Given the description of an element on the screen output the (x, y) to click on. 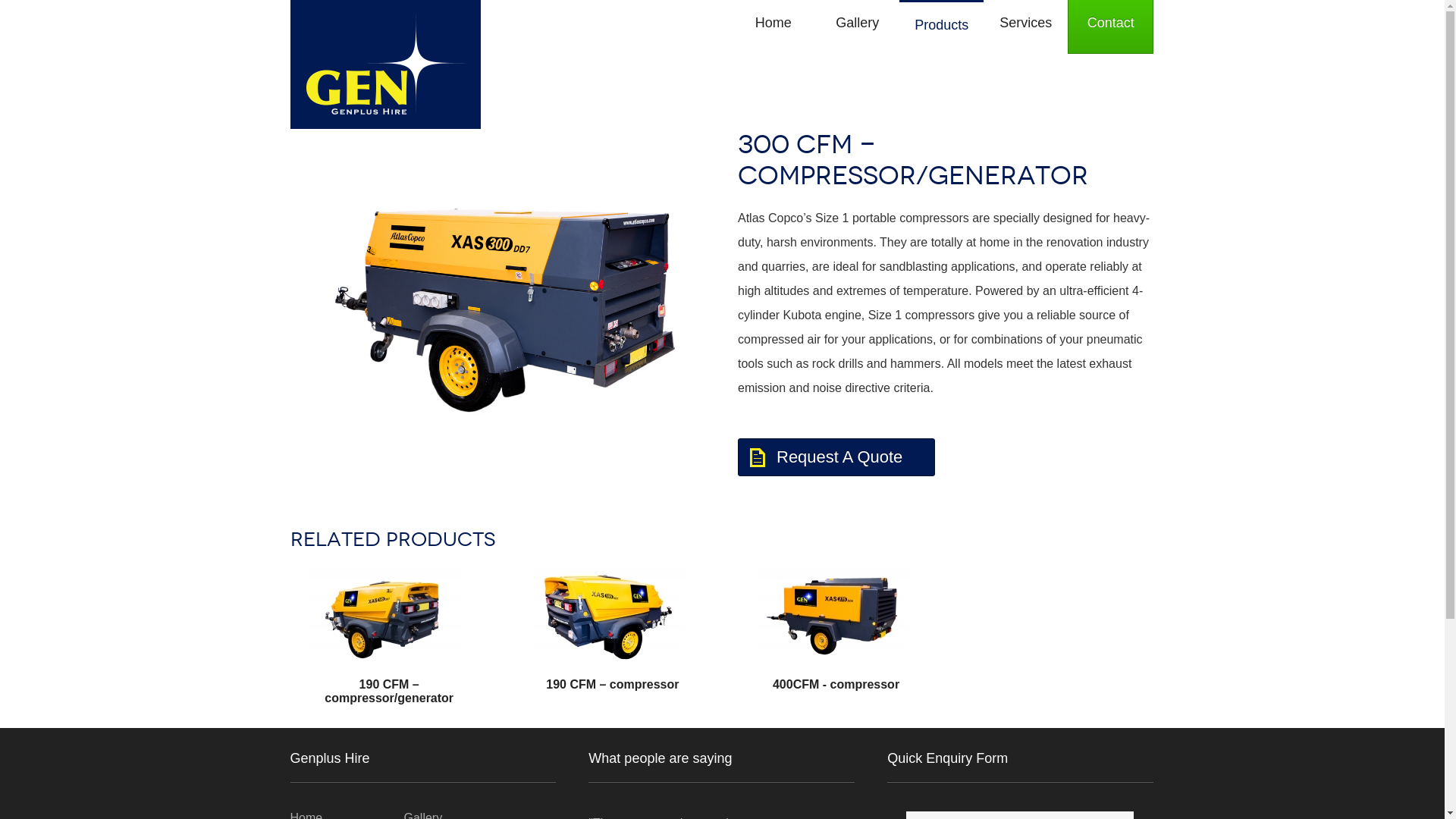
Request A Quote Element type: text (843, 457)
Request A Quote Element type: text (836, 457)
